Given the description of an element on the screen output the (x, y) to click on. 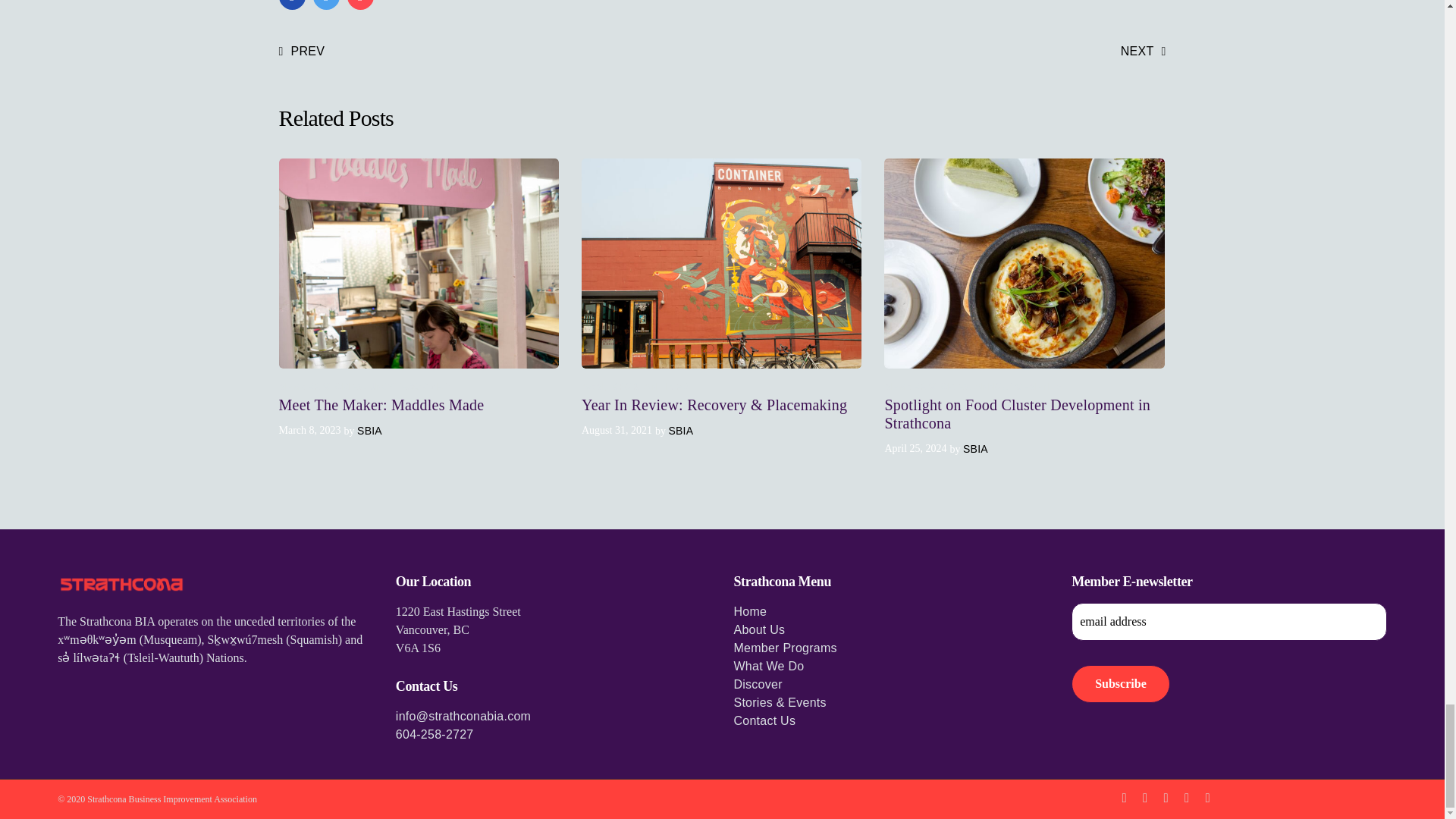
Meet The Maker: Birdies (301, 51)
Here are 3 June Events Happening in Strathcona (1143, 51)
Subscribe (1120, 683)
